Given the description of an element on the screen output the (x, y) to click on. 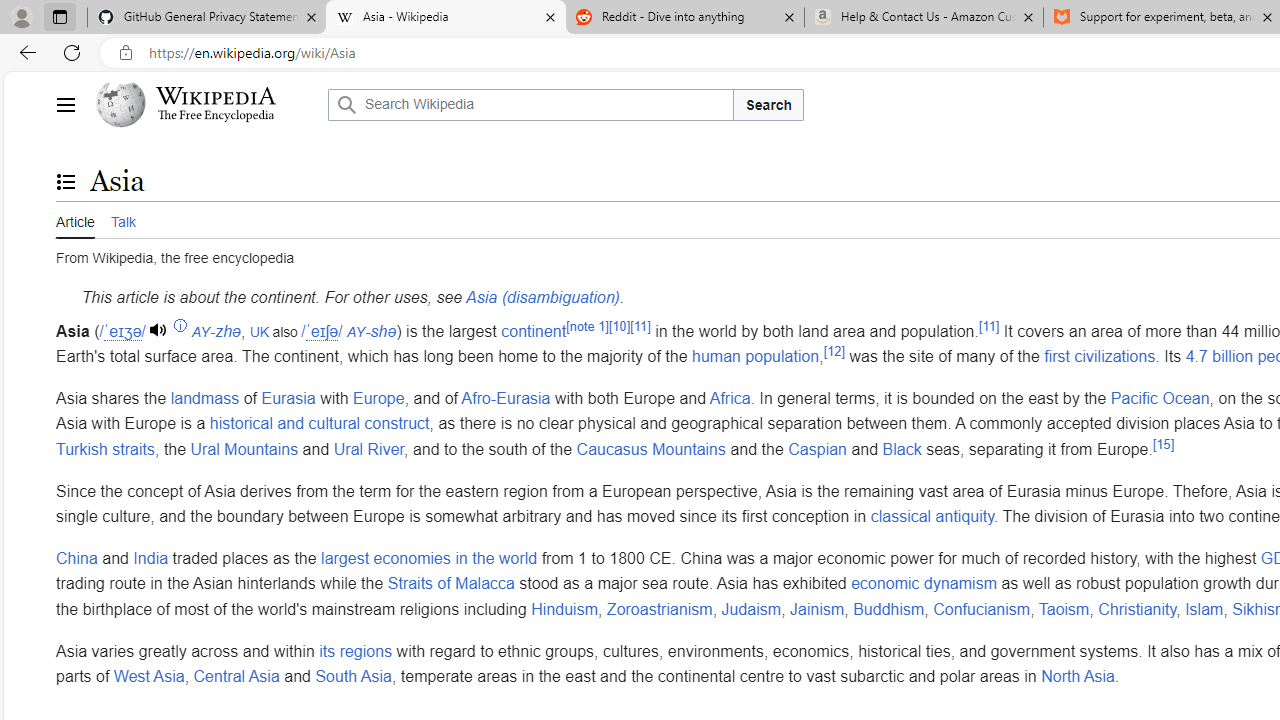
Caucasus Mountains (650, 448)
[12] (834, 350)
its regions (355, 651)
landmass (205, 397)
Hinduism (564, 608)
UK (258, 331)
[10] (619, 326)
Asia - Wikipedia (445, 17)
Ural Mountains (244, 448)
largest economies in the world (429, 557)
Christianity (1137, 608)
